Given the description of an element on the screen output the (x, y) to click on. 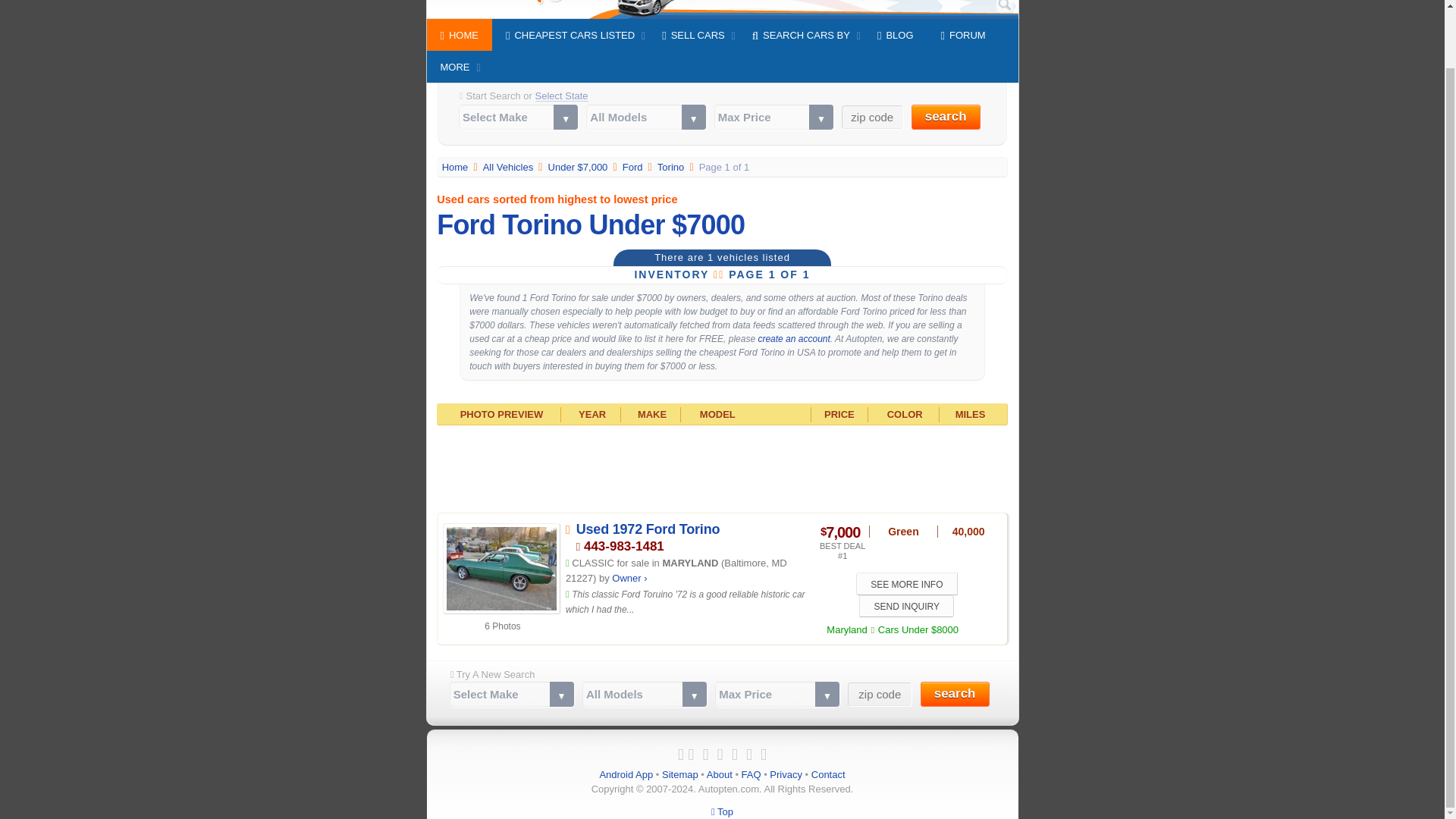
SEARCH CARS BY (800, 34)
search (945, 116)
Autopten.com RSS Feed (763, 753)
Autopten.com on Instagram (720, 753)
create an account (793, 338)
seller comments... (685, 601)
BLOG (895, 34)
View all Ford vehicles listed (634, 166)
HOME (459, 34)
Search (1004, 6)
SELL CARS (692, 34)
SEND INQUIRY (906, 606)
Autopten.com Home (456, 166)
Browse the cheapest cars for sale list (509, 166)
MORE (454, 66)
